Given the description of an element on the screen output the (x, y) to click on. 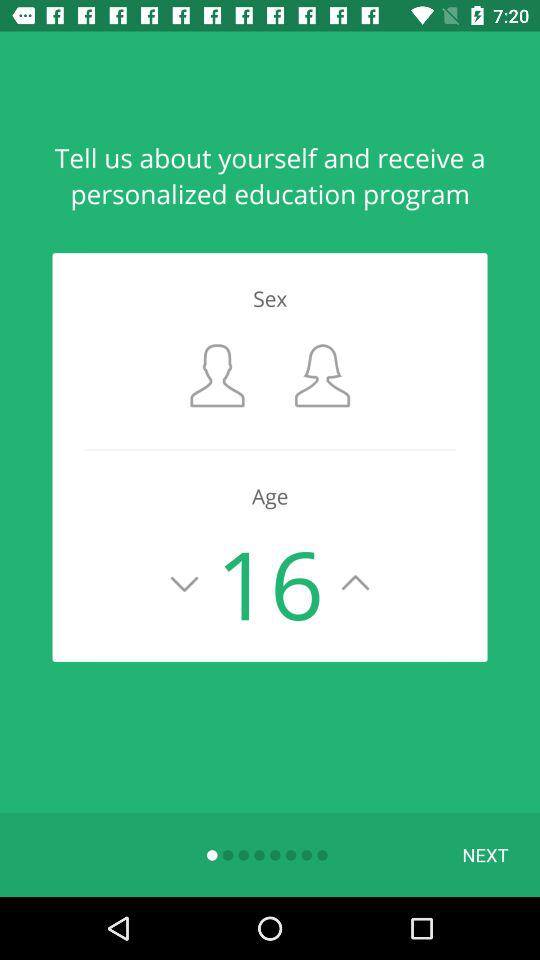
scroll to the next (485, 854)
